Given the description of an element on the screen output the (x, y) to click on. 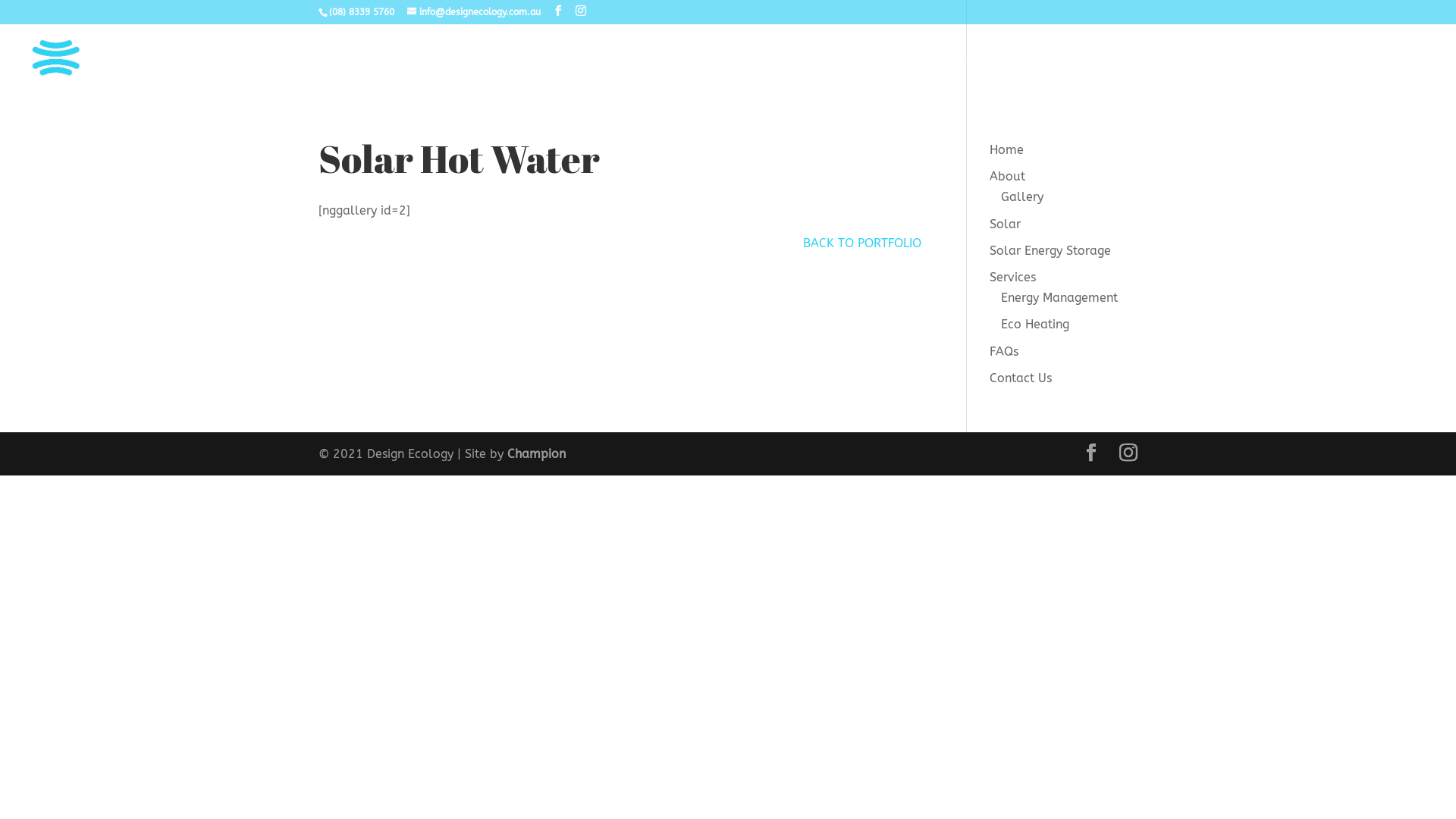
Energy Management Element type: text (1059, 297)
ABOUT Element type: text (908, 74)
Champion Element type: text (536, 453)
FAQs Element type: text (1003, 351)
SOLAR ENERGY STORAGE Element type: text (1102, 74)
SERVICES Element type: text (1239, 74)
info@designecology.com.au Element type: text (473, 11)
Solar Energy Storage Element type: text (1049, 250)
SOLAR Element type: text (980, 74)
FAQS Element type: text (1315, 74)
Services Element type: text (1012, 276)
About Element type: text (1007, 176)
Solar Element type: text (1004, 223)
Home Element type: text (1006, 149)
Eco Heating Element type: text (1035, 323)
Contact Us Element type: text (1020, 377)
BACK TO PORTFOLIO Element type: text (862, 242)
CONTACT US Element type: text (1392, 74)
Gallery Element type: text (1022, 196)
HOME Element type: text (838, 74)
